Given the description of an element on the screen output the (x, y) to click on. 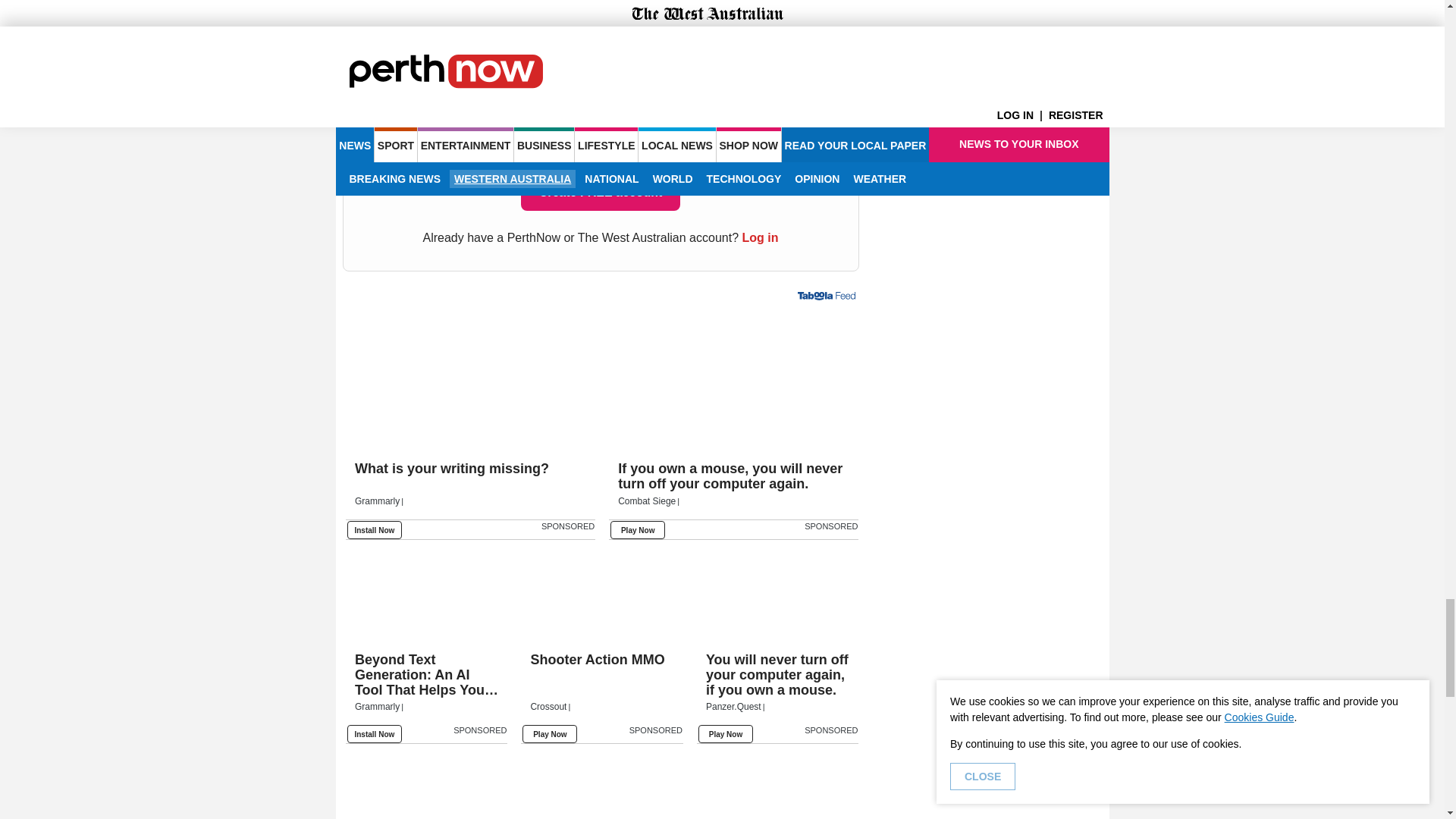
What is your writing missing? (470, 491)
What is your writing missing? (470, 382)
